Given the description of an element on the screen output the (x, y) to click on. 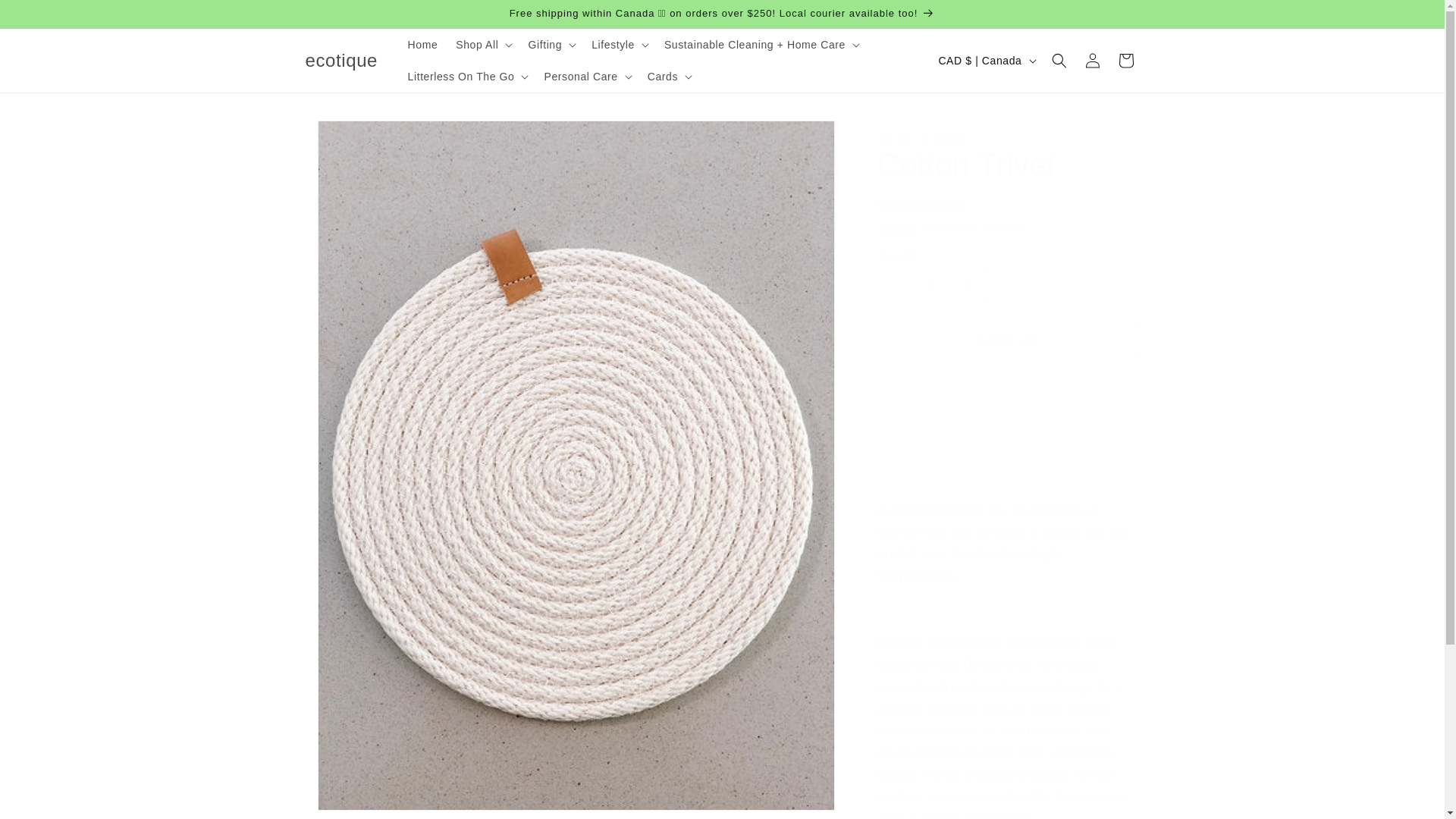
Skip to content (45, 17)
1 (931, 284)
